Given the description of an element on the screen output the (x, y) to click on. 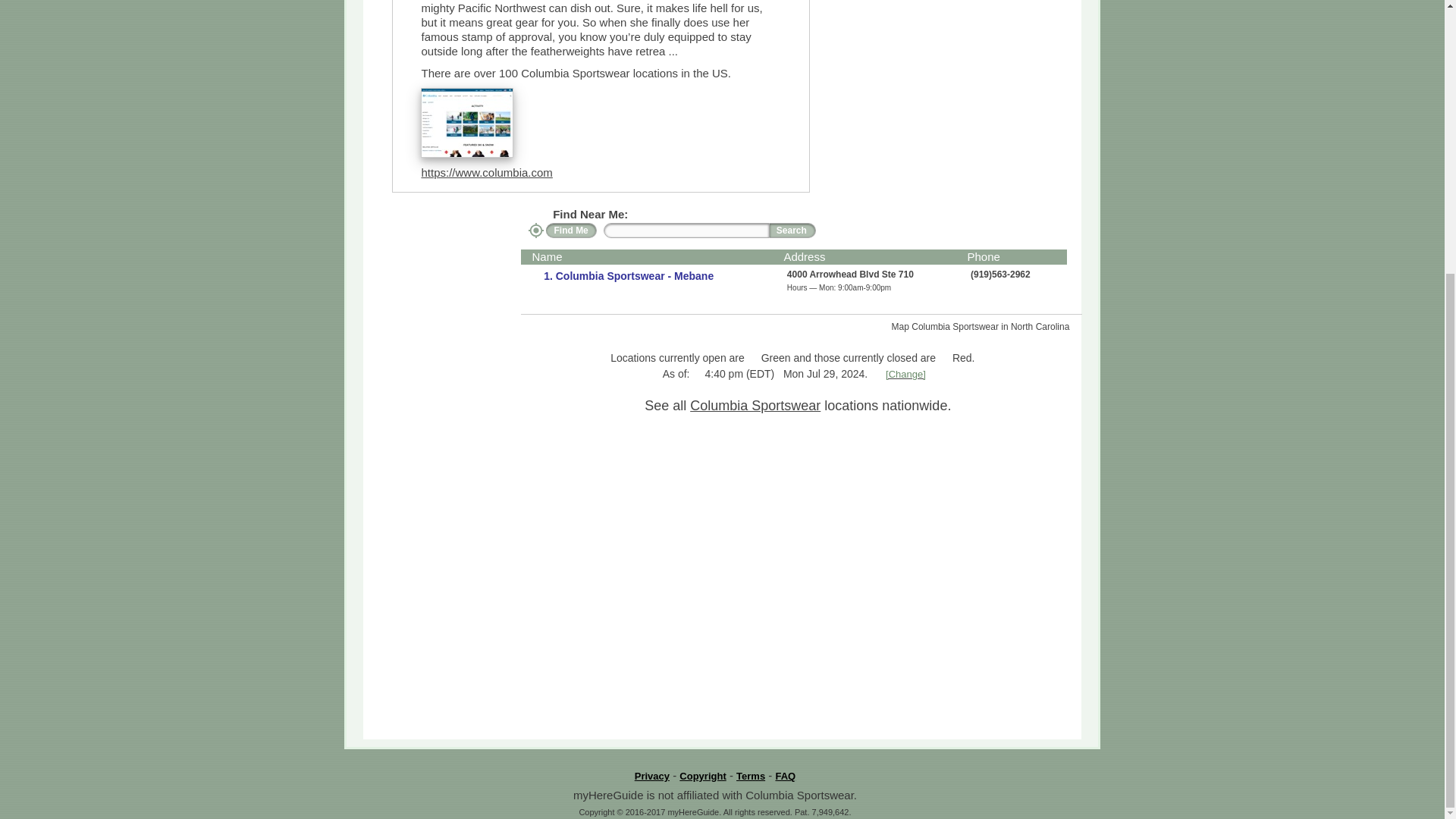
Find Me (571, 230)
 Search (792, 230)
Privacy (651, 776)
Columbia Sportswear - Mebane (632, 275)
Map Columbia Sportswear in North Carolina (987, 326)
Copyright (702, 776)
FAQ (784, 776)
Terms (750, 776)
Columbia Sportswear (755, 405)
